Given the description of an element on the screen output the (x, y) to click on. 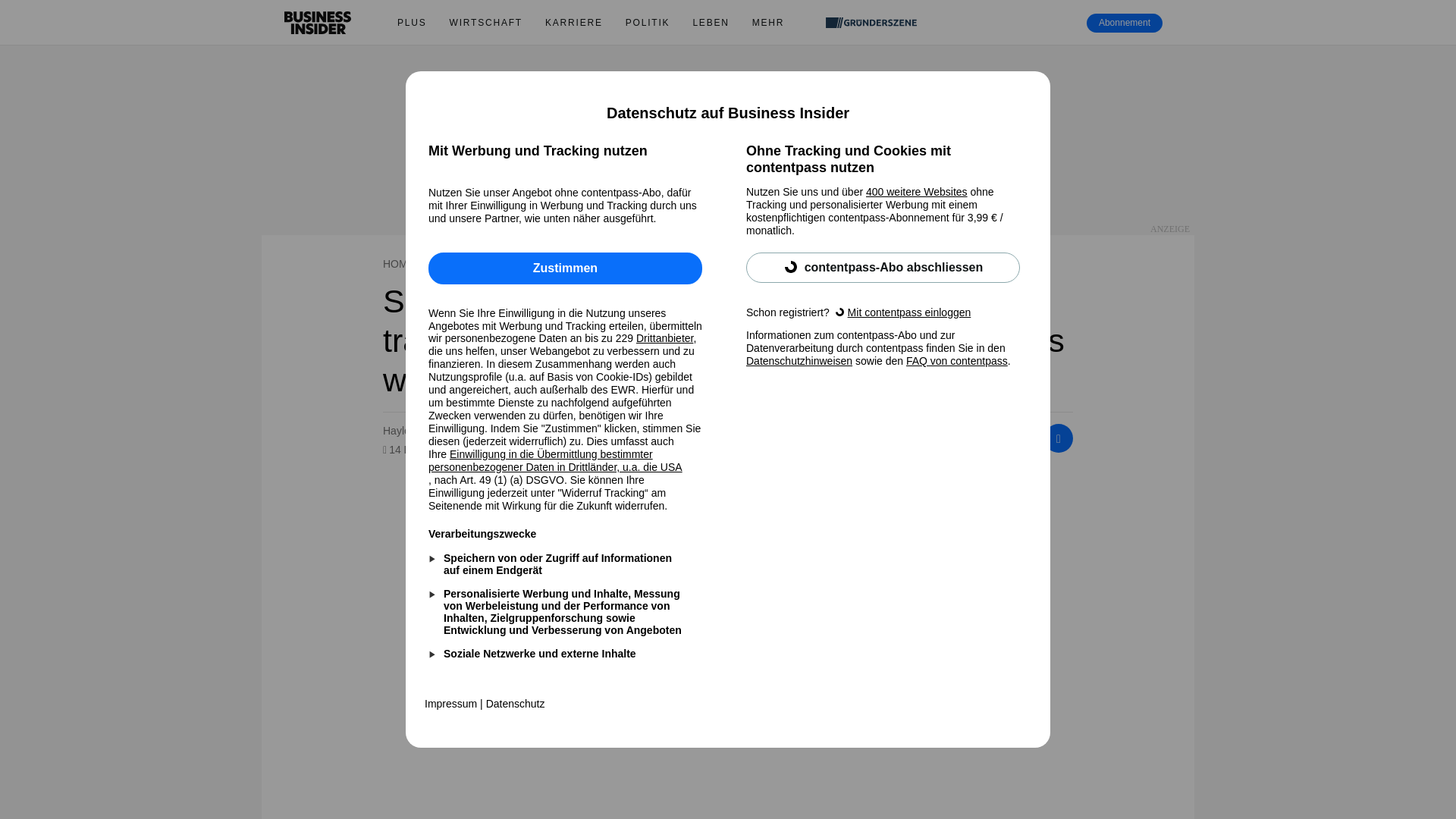
PLUS (411, 22)
KARRIERE (574, 22)
LEBEN (710, 22)
POLITIK (647, 22)
WIRTSCHAFT (486, 22)
